Given the description of an element on the screen output the (x, y) to click on. 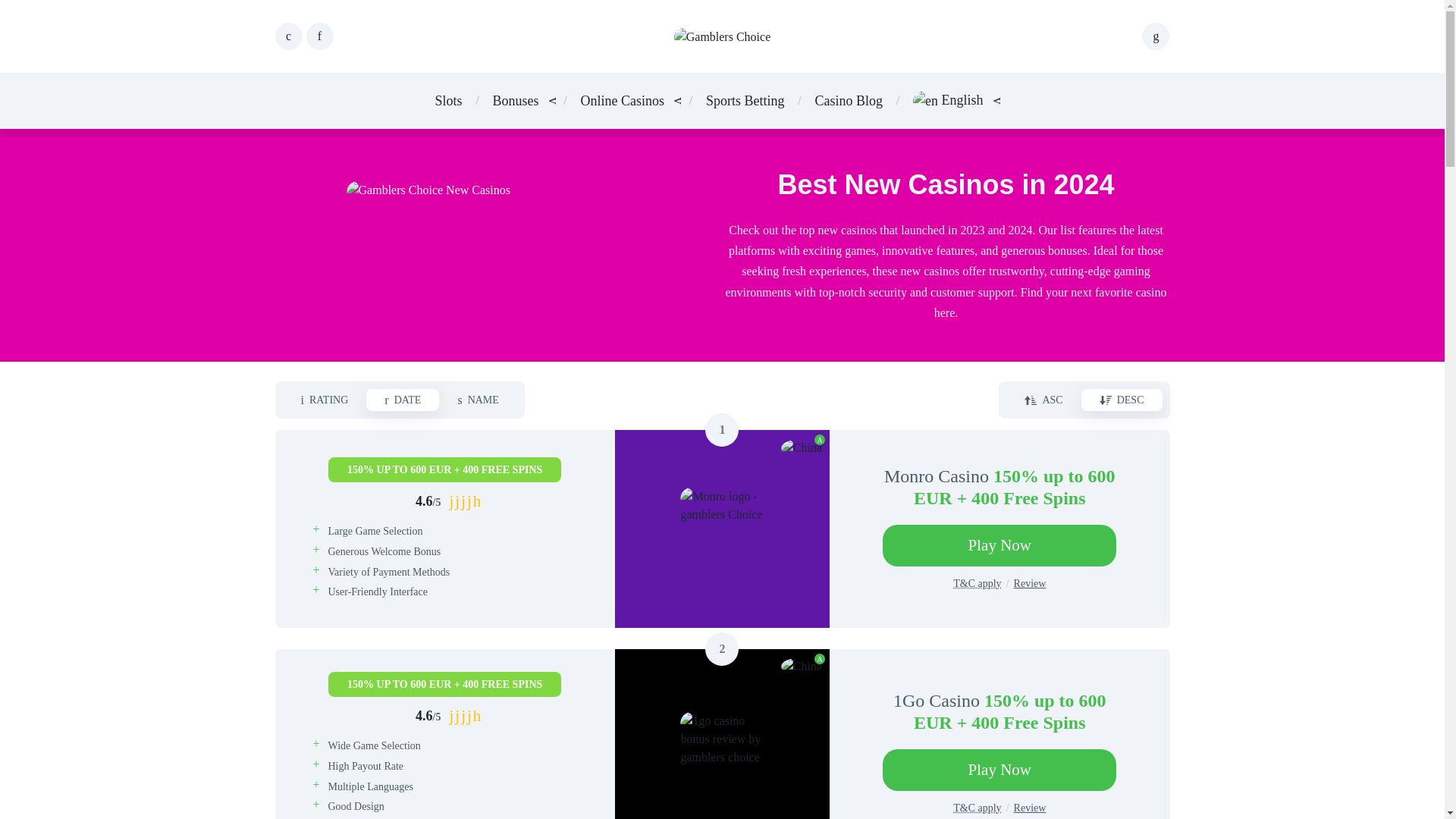
Review (1029, 808)
English (948, 100)
NAME (477, 400)
Bonuses (515, 100)
RATING (324, 400)
Slots (447, 100)
Play Now (999, 545)
DESC (1121, 400)
Play Now (999, 770)
Sports Betting (745, 100)
